Given the description of an element on the screen output the (x, y) to click on. 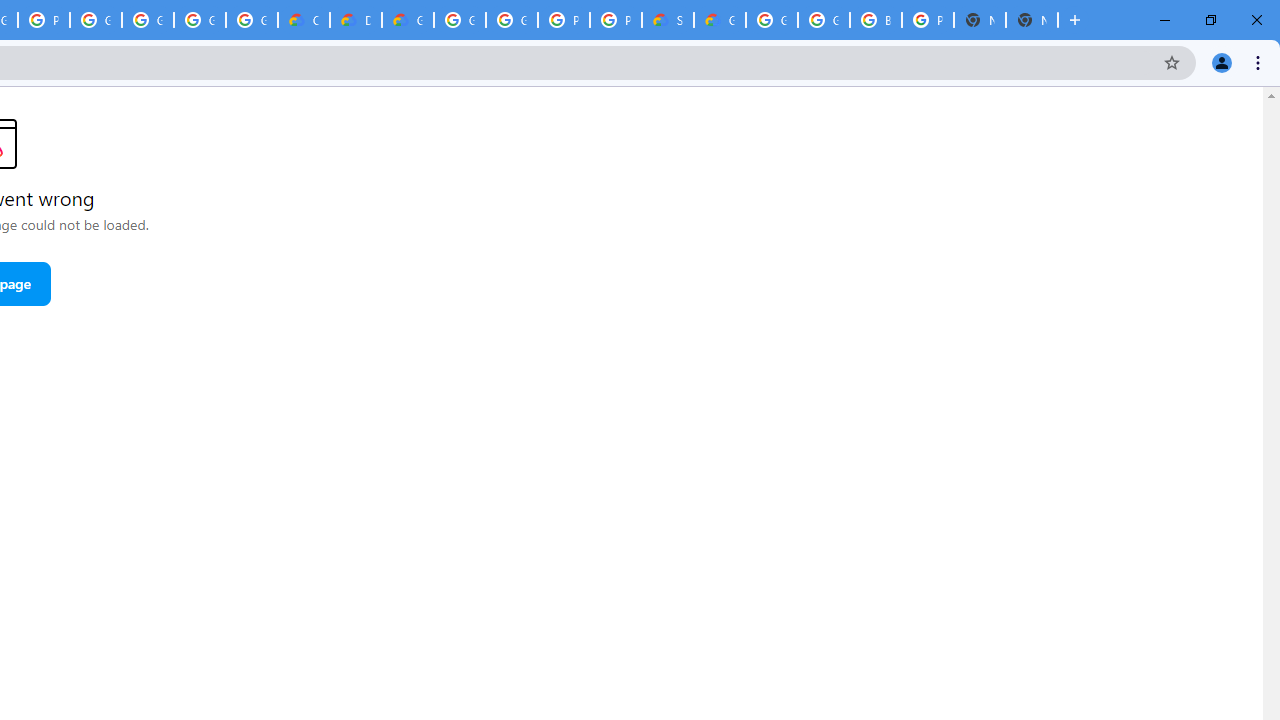
Google Cloud Platform (459, 20)
Google Cloud Service Health (719, 20)
Support Hub | Google Cloud (667, 20)
Google Workspace - Specific Terms (251, 20)
Customer Care | Google Cloud (303, 20)
Gemini for Business and Developers | Google Cloud (407, 20)
New Tab (1032, 20)
